Given the description of an element on the screen output the (x, y) to click on. 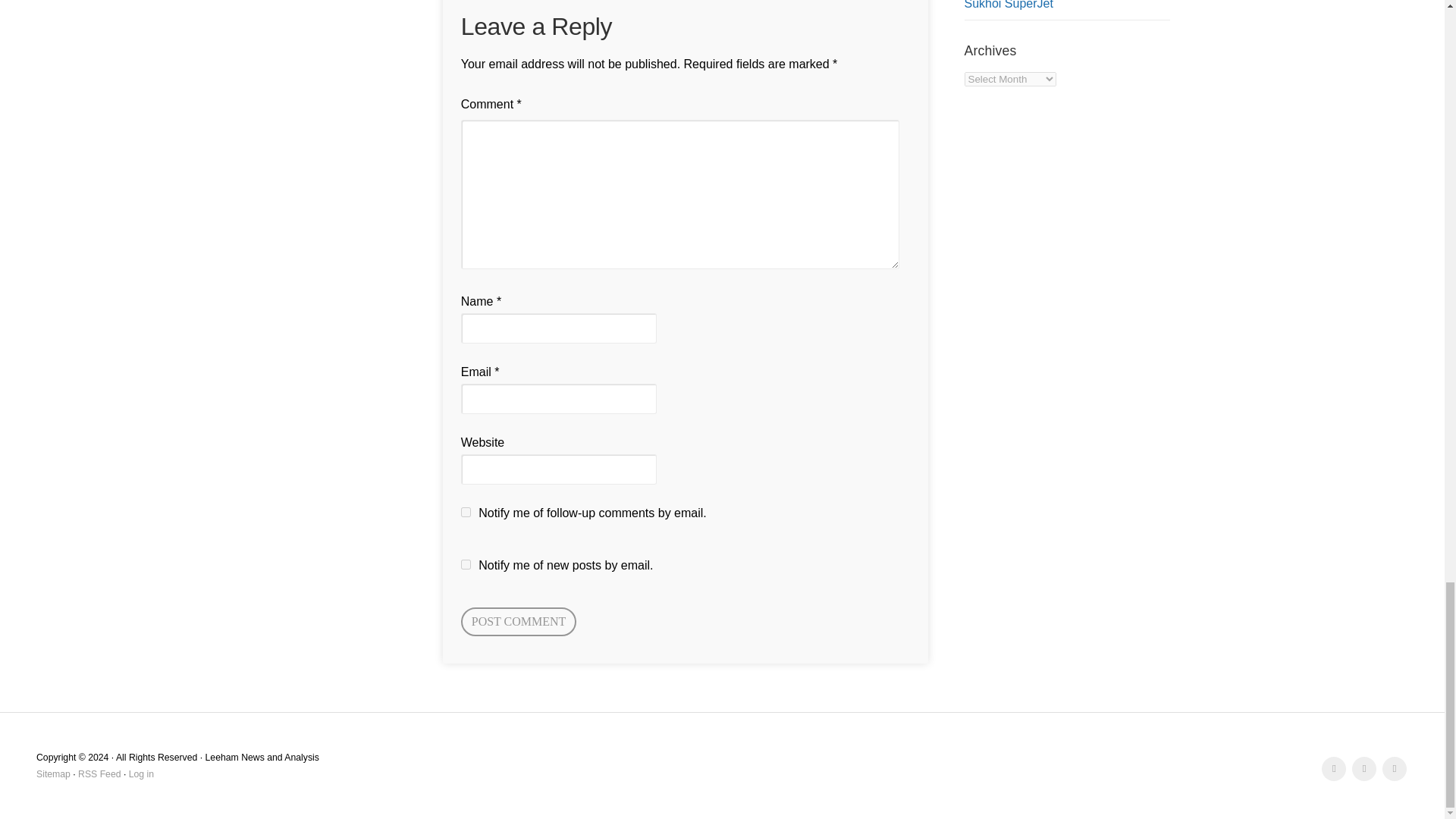
subscribe (465, 511)
Post Comment (518, 621)
subscribe (465, 564)
